Given the description of an element on the screen output the (x, y) to click on. 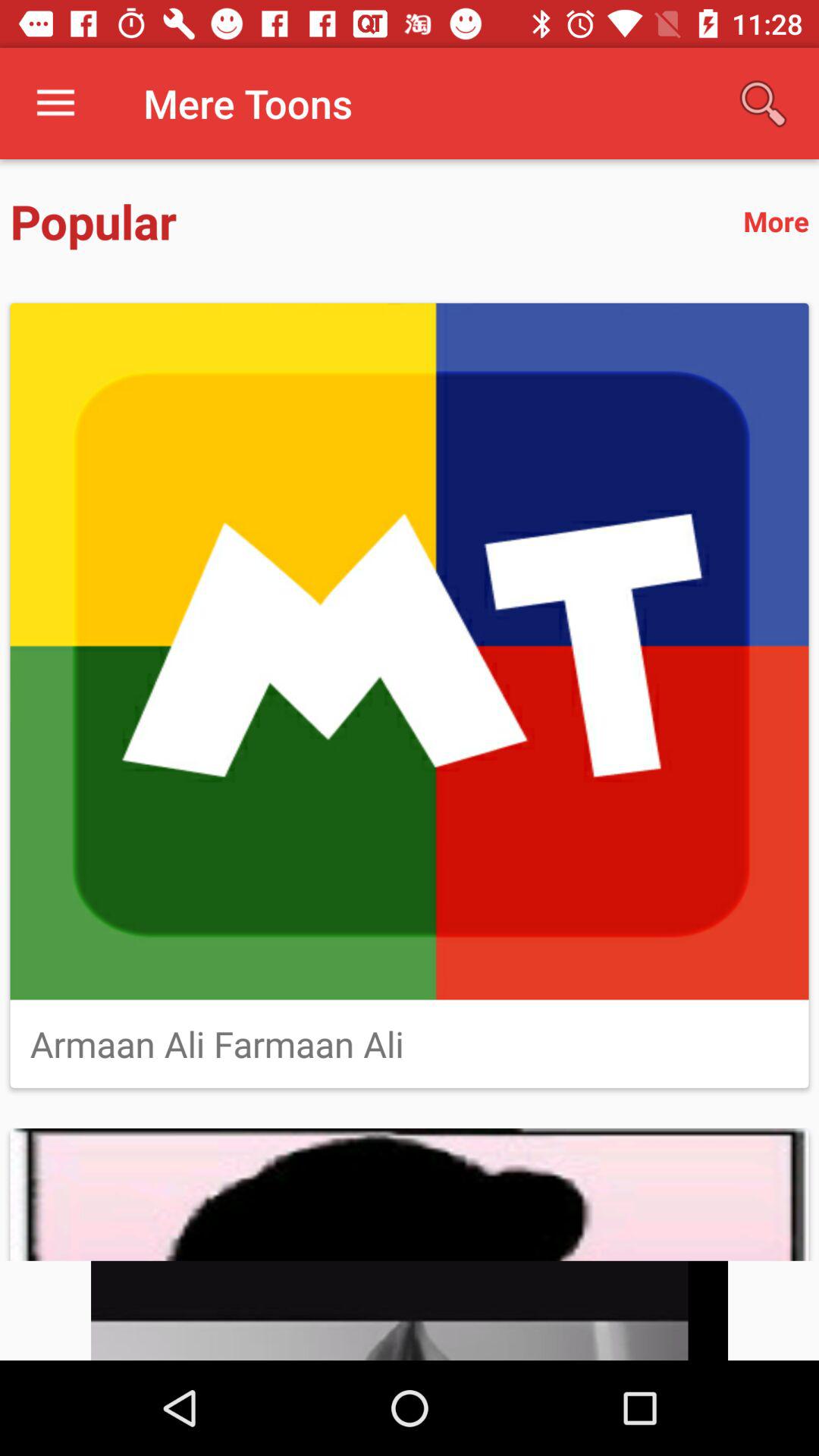
turn on more (775, 221)
